Given the description of an element on the screen output the (x, y) to click on. 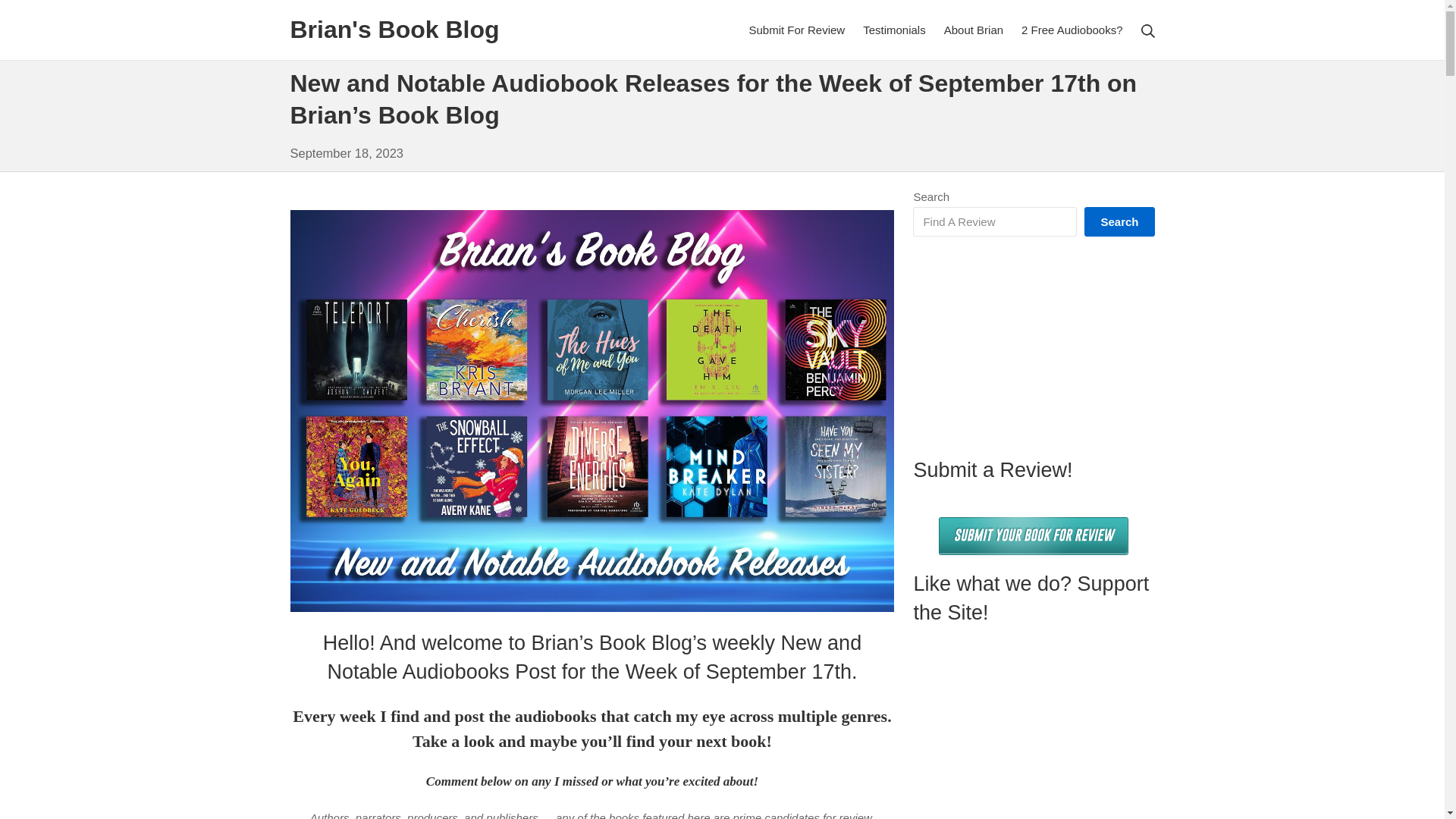
Advertisement (1033, 346)
Brian's Book Blog (394, 29)
About Brian (973, 30)
Submit For Review (796, 30)
Testimonials (894, 30)
Search (34, 14)
2 Free Audiobooks? (1072, 30)
September 18, 2023 (346, 152)
